Given the description of an element on the screen output the (x, y) to click on. 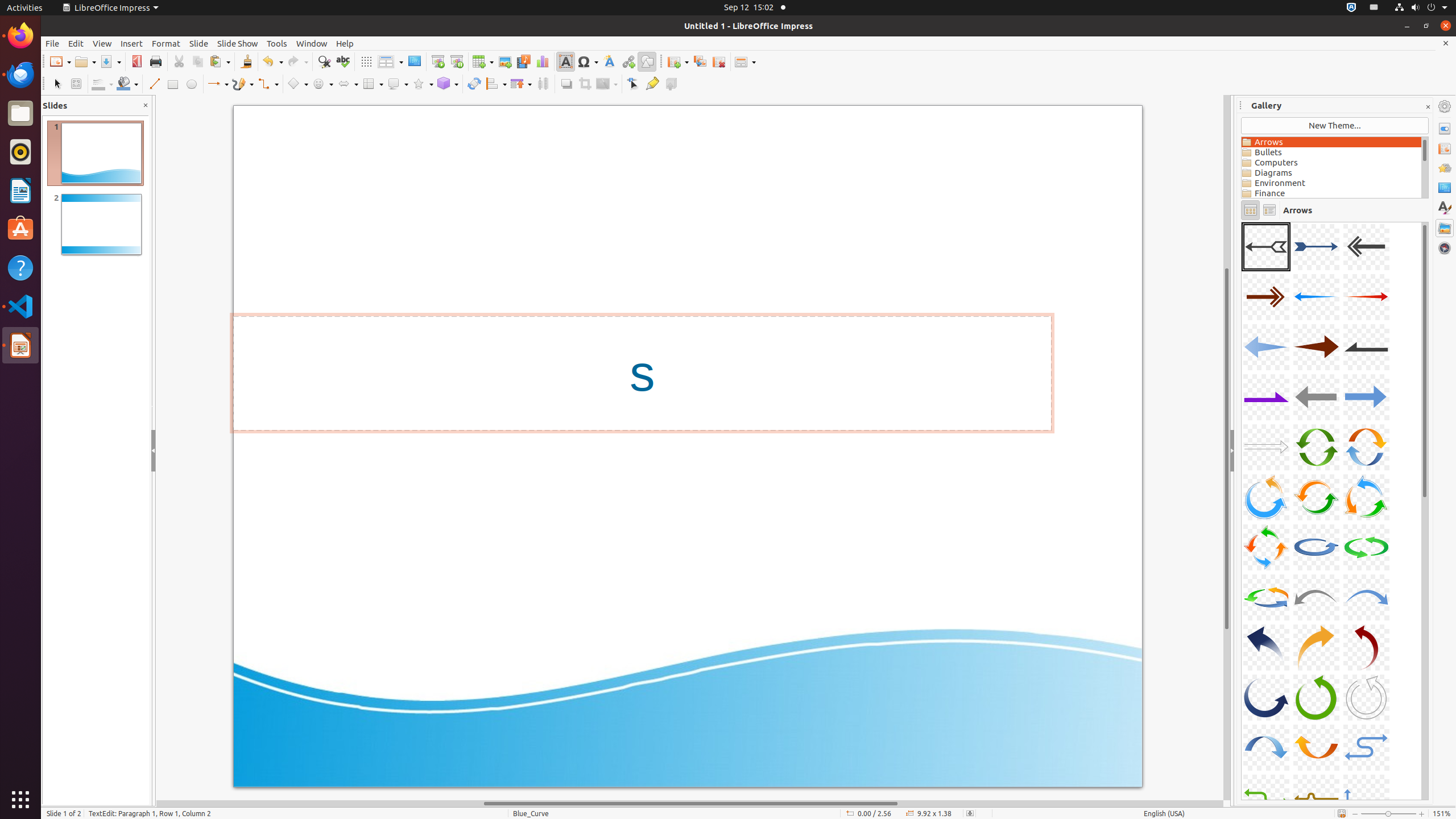
A12-Arrow-LightBlue-Right Element type: list-item (1365, 396)
Cut Element type: push-button (178, 61)
Spelling Element type: push-button (342, 61)
Symbol Element type: push-button (587, 61)
